Given the description of an element on the screen output the (x, y) to click on. 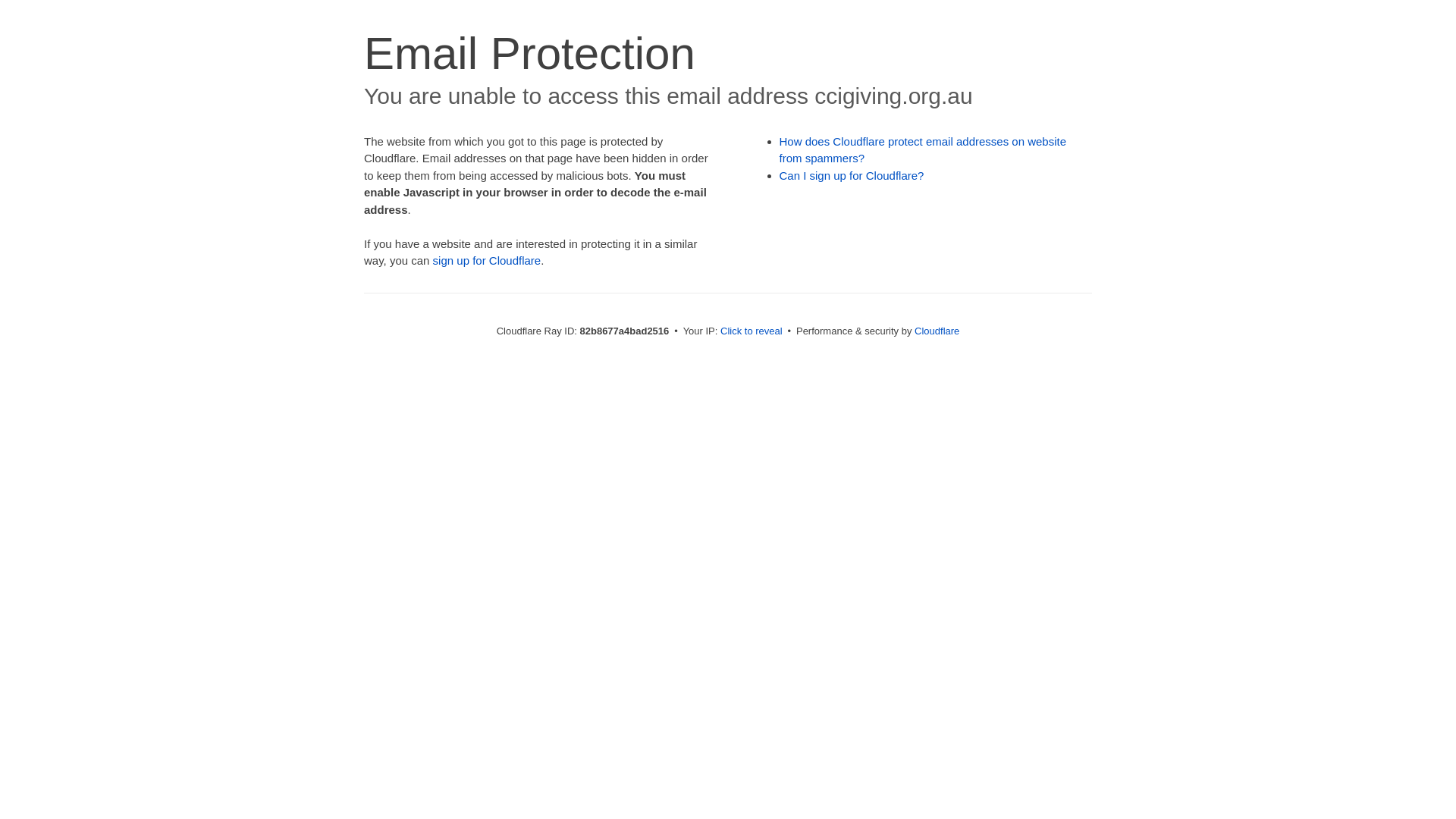
Click to reveal Element type: text (751, 330)
Cloudflare Element type: text (936, 330)
sign up for Cloudflare Element type: text (487, 260)
Can I sign up for Cloudflare? Element type: text (851, 175)
